Given the description of an element on the screen output the (x, y) to click on. 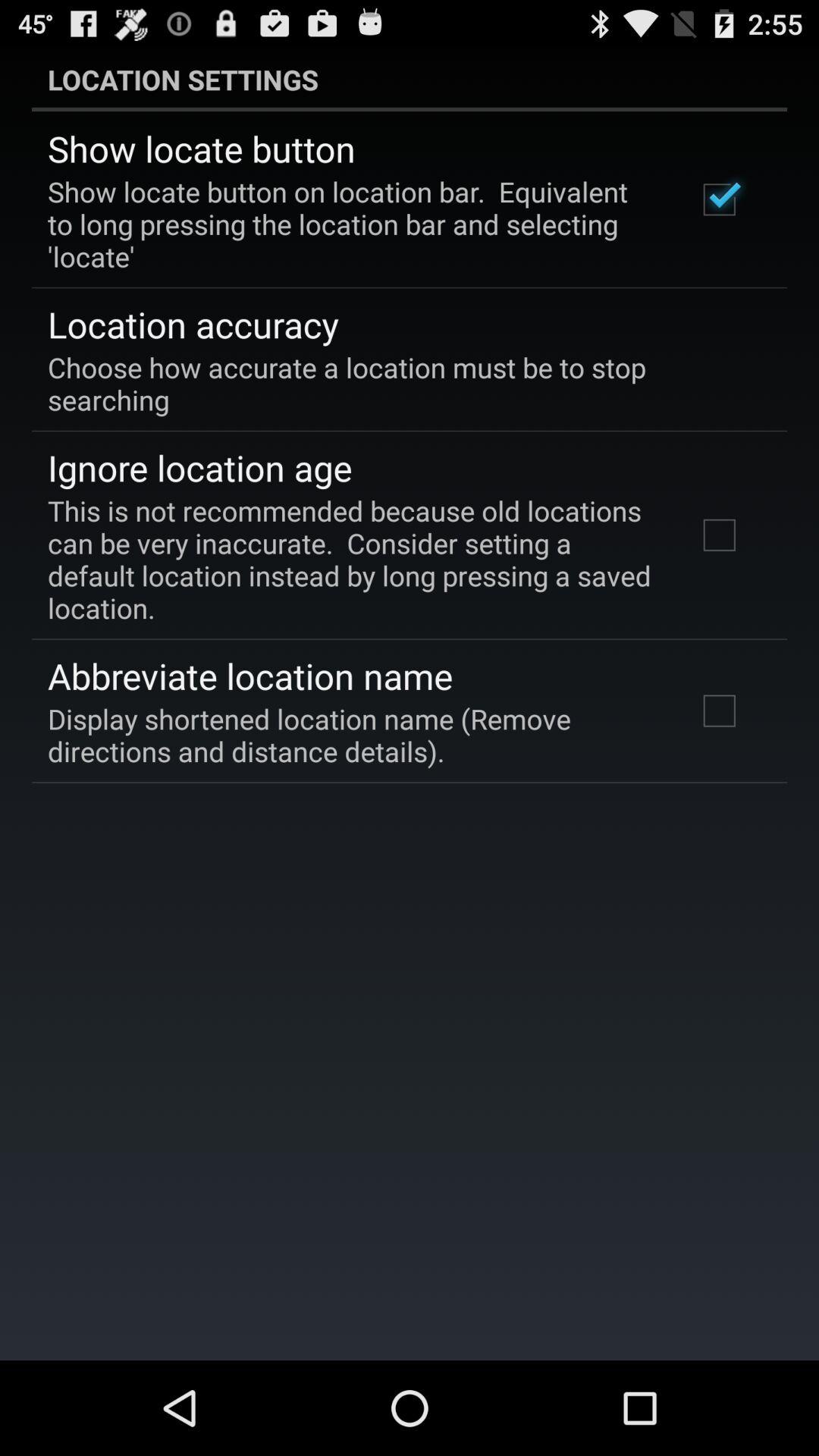
flip until abbreviate location name item (249, 675)
